Given the description of an element on the screen output the (x, y) to click on. 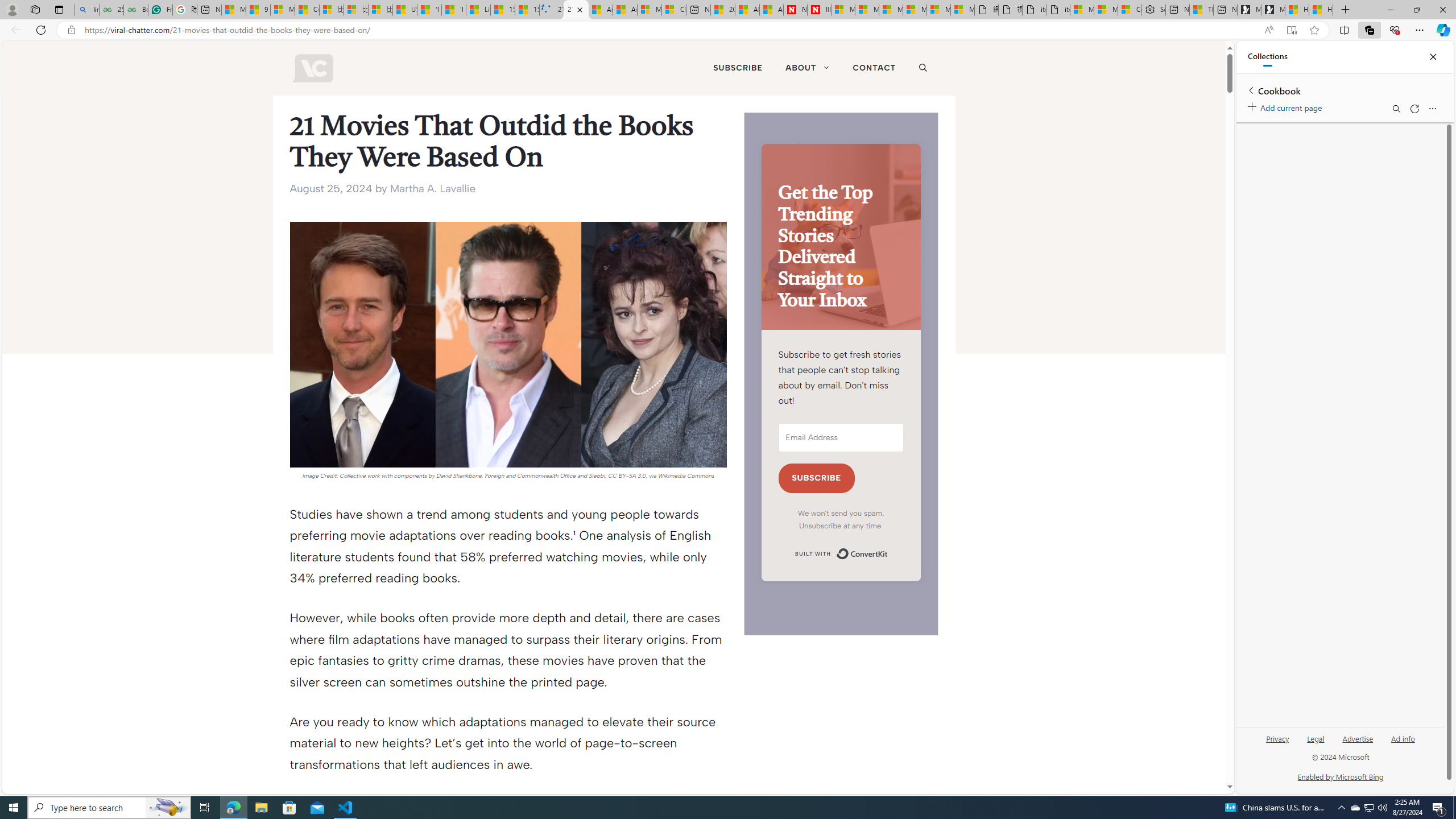
ABOUT (807, 67)
25 Basic Linux Commands For Beginners - GeeksforGeeks (111, 9)
Built with ConvertKit (840, 554)
Newsweek - News, Analysis, Politics, Business, Technology (795, 9)
Free AI Writing Assistance for Students | Grammarly (159, 9)
principal cast of fight club wc (507, 344)
linux basic - Search (86, 9)
SUBSCRIBE (816, 478)
